Given the description of an element on the screen output the (x, y) to click on. 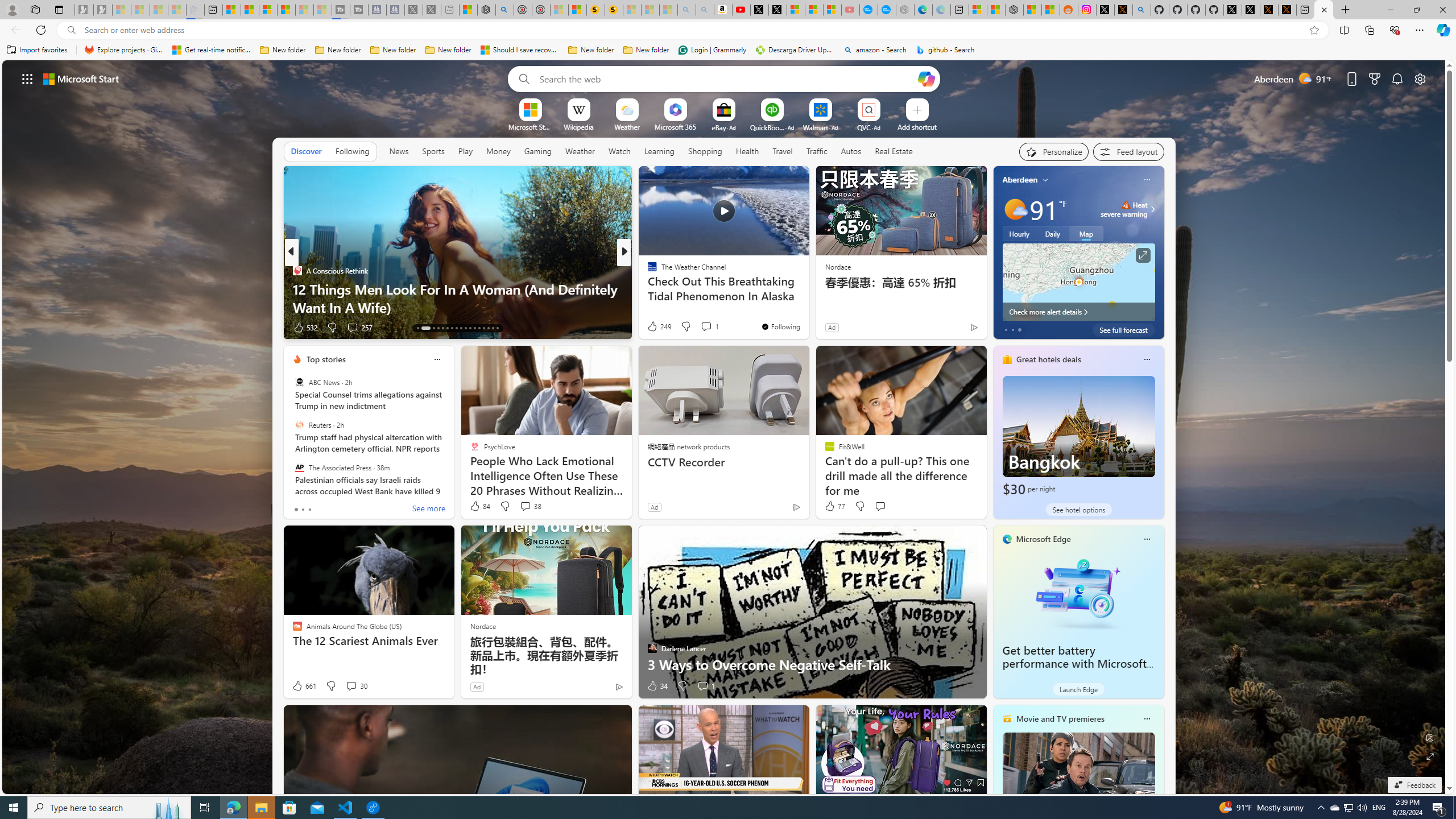
New folder (646, 49)
AutomationID: tab-16 (438, 328)
How to back up and wipe your Windows PC (807, 307)
Mostly sunny (1014, 208)
Amazon Echo Dot PNG - Search Images - Sleeping (705, 9)
The Verge (647, 288)
Expand background (1430, 756)
Play (465, 151)
Gaming (537, 151)
Travel (782, 151)
